Given the description of an element on the screen output the (x, y) to click on. 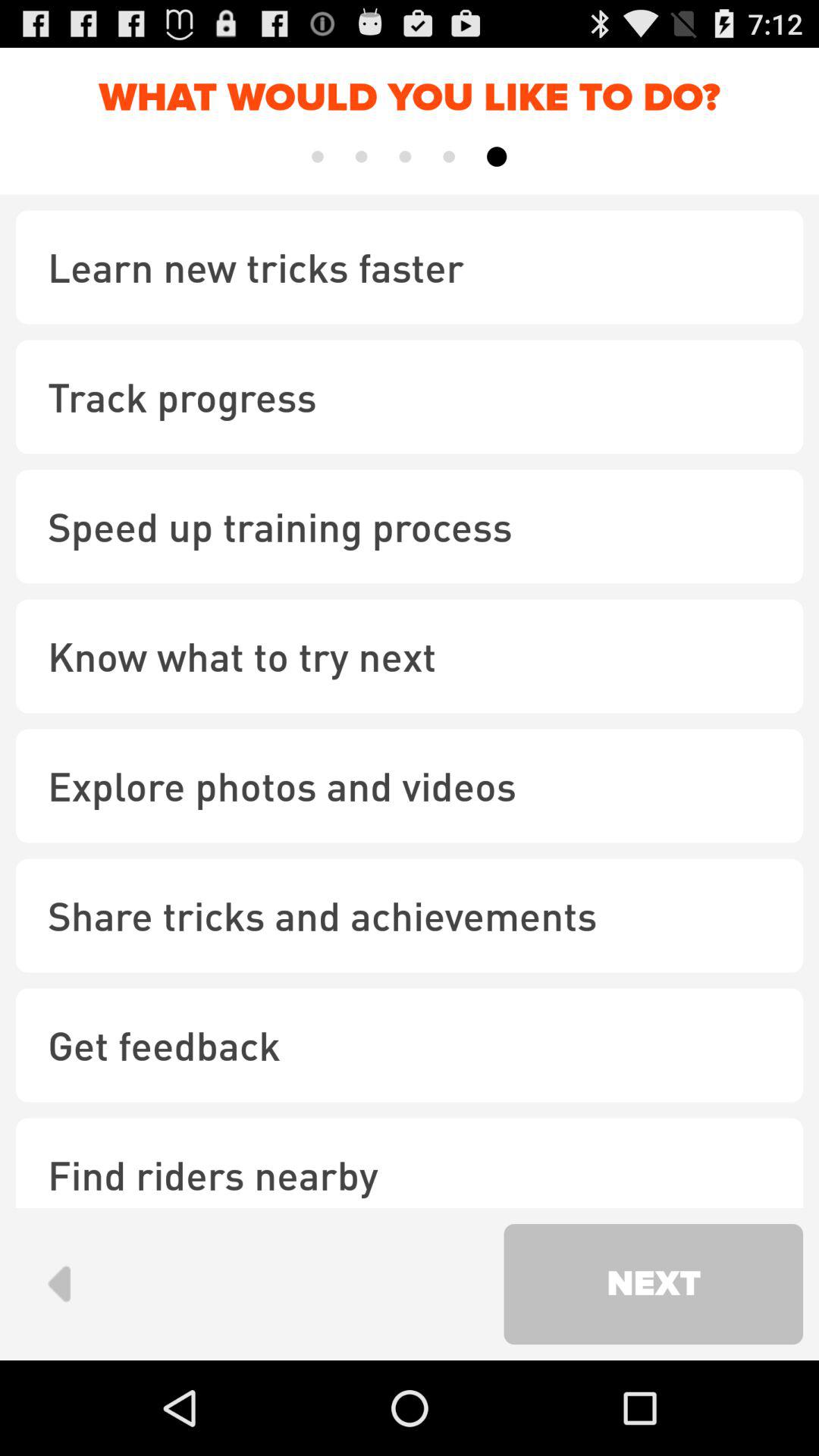
jump to share tricks and item (409, 915)
